Given the description of an element on the screen output the (x, y) to click on. 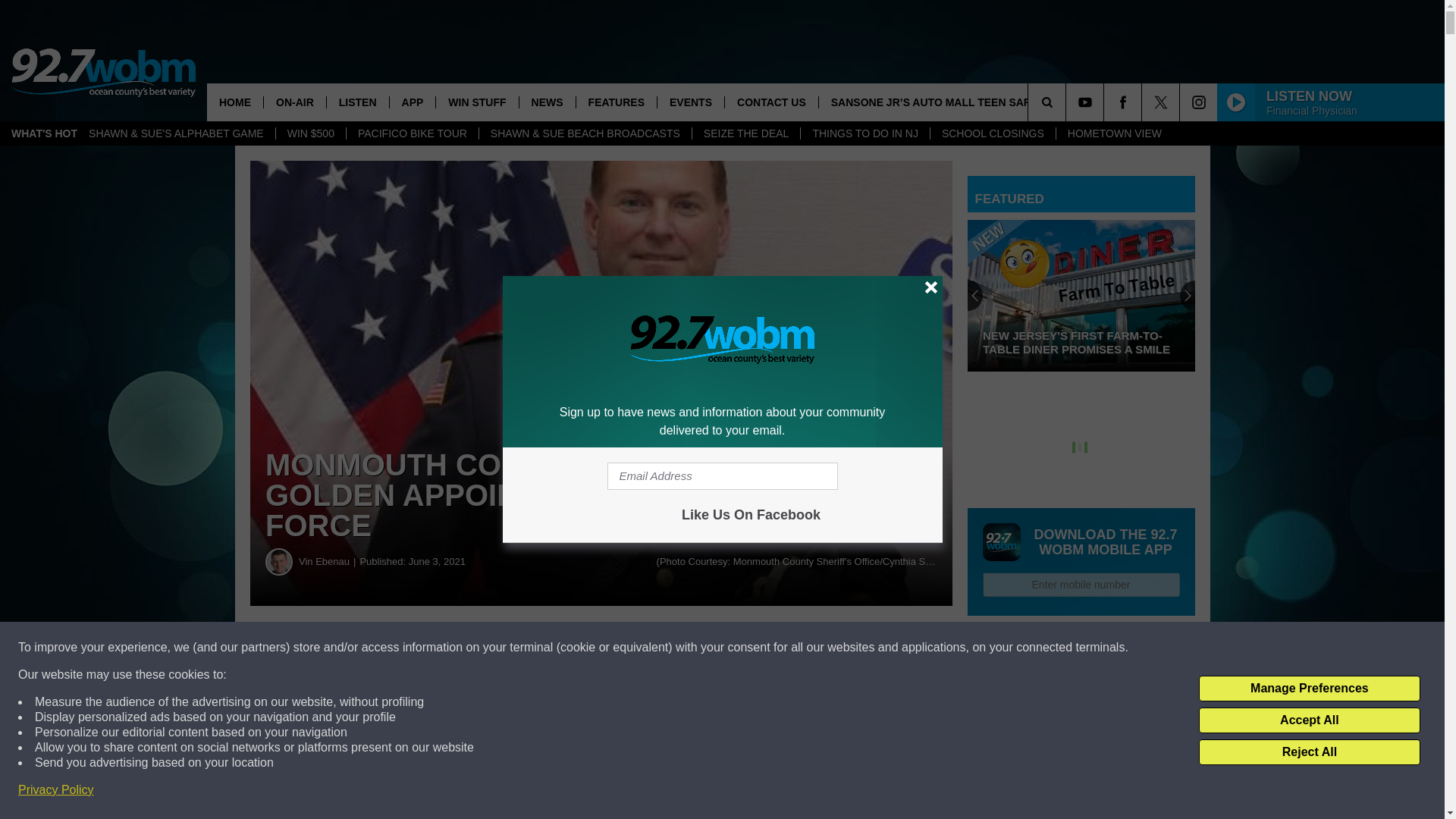
Reject All (1309, 751)
SEARCH (1068, 102)
HOME (234, 102)
THINGS TO DO IN NJ (864, 133)
SEARCH (1068, 102)
Accept All (1309, 720)
HOMETOWN VIEW (1114, 133)
Privacy Policy (55, 789)
APP (411, 102)
Share on Facebook (460, 647)
LISTEN (357, 102)
Email Address (722, 475)
Share on Twitter (741, 647)
SCHOOL CLOSINGS (992, 133)
ON-AIR (294, 102)
